Given the description of an element on the screen output the (x, y) to click on. 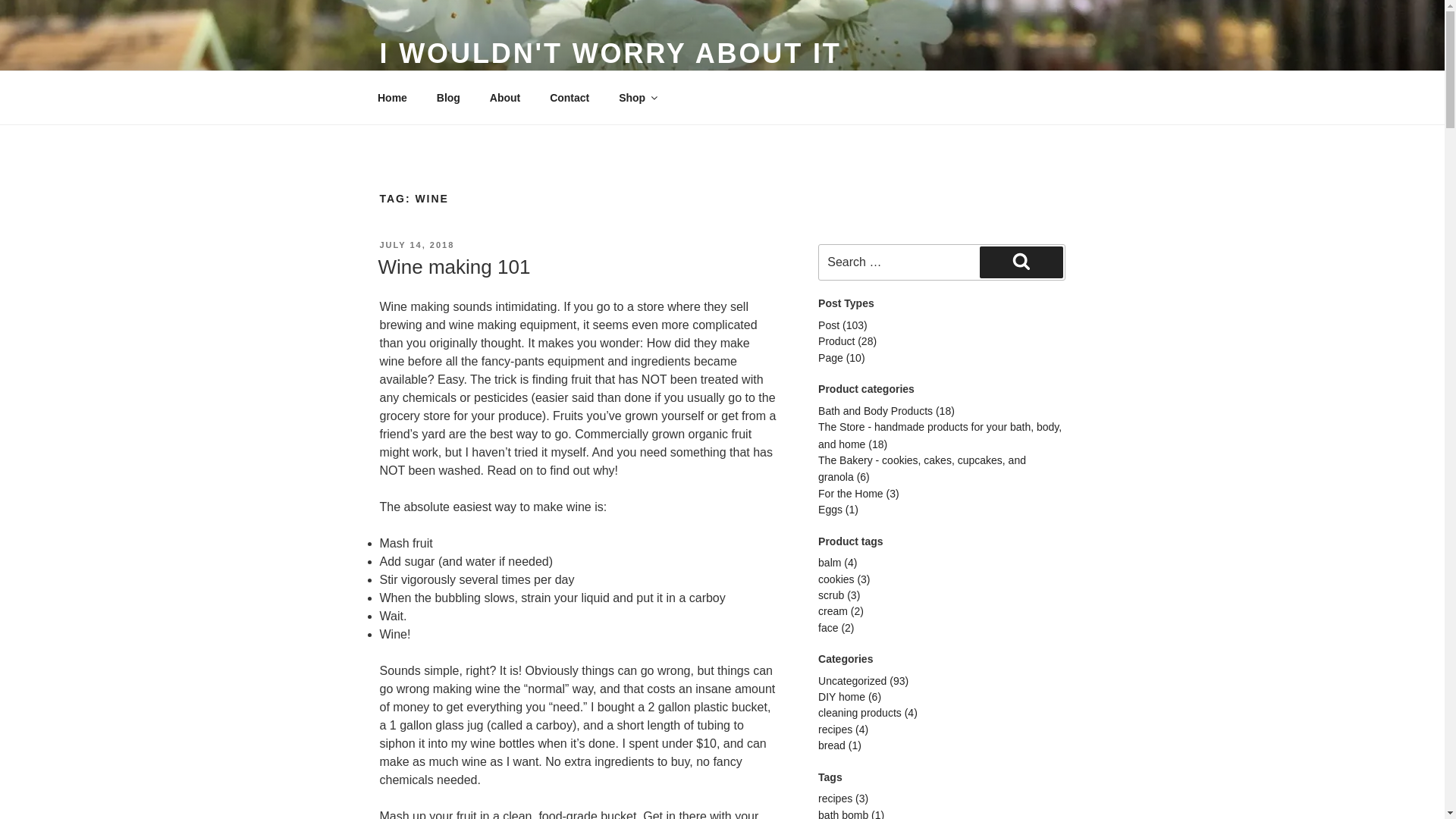
I WOULDN'T WORRY ABOUT IT (609, 52)
Contact (569, 97)
About (504, 97)
Search (1020, 262)
JULY 14, 2018 (416, 244)
Home (392, 97)
Shop (637, 97)
Blog (448, 97)
Wine making 101 (453, 266)
